Given the description of an element on the screen output the (x, y) to click on. 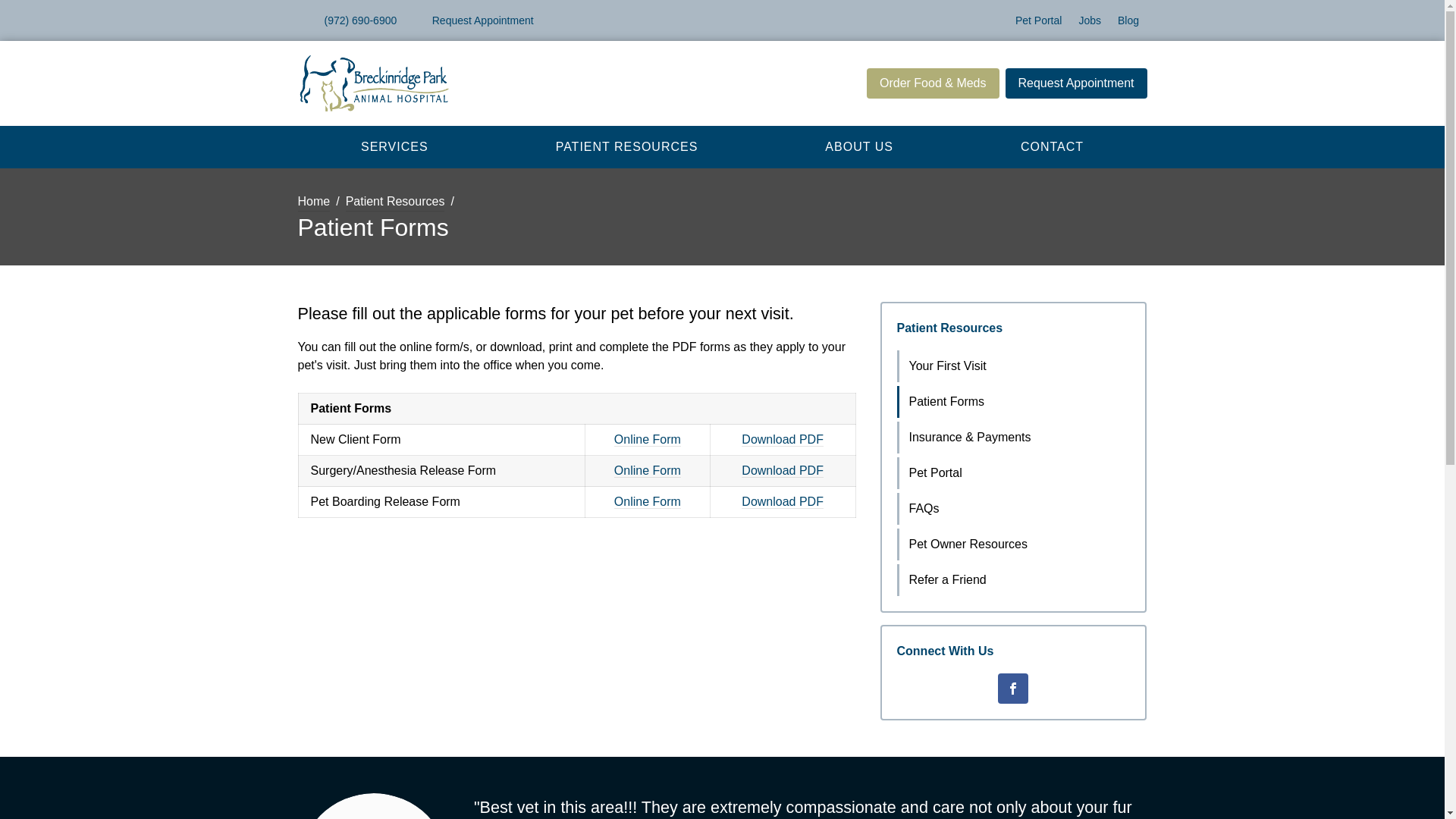
Download PDF (782, 501)
Jobs (1089, 20)
Pet Portal (1037, 20)
Online Form (647, 501)
Request Appointment (473, 20)
Blog (1128, 20)
Request Appointment (1076, 82)
ABOUT US (858, 146)
Download PDF (782, 439)
SERVICES (394, 146)
